Given the description of an element on the screen output the (x, y) to click on. 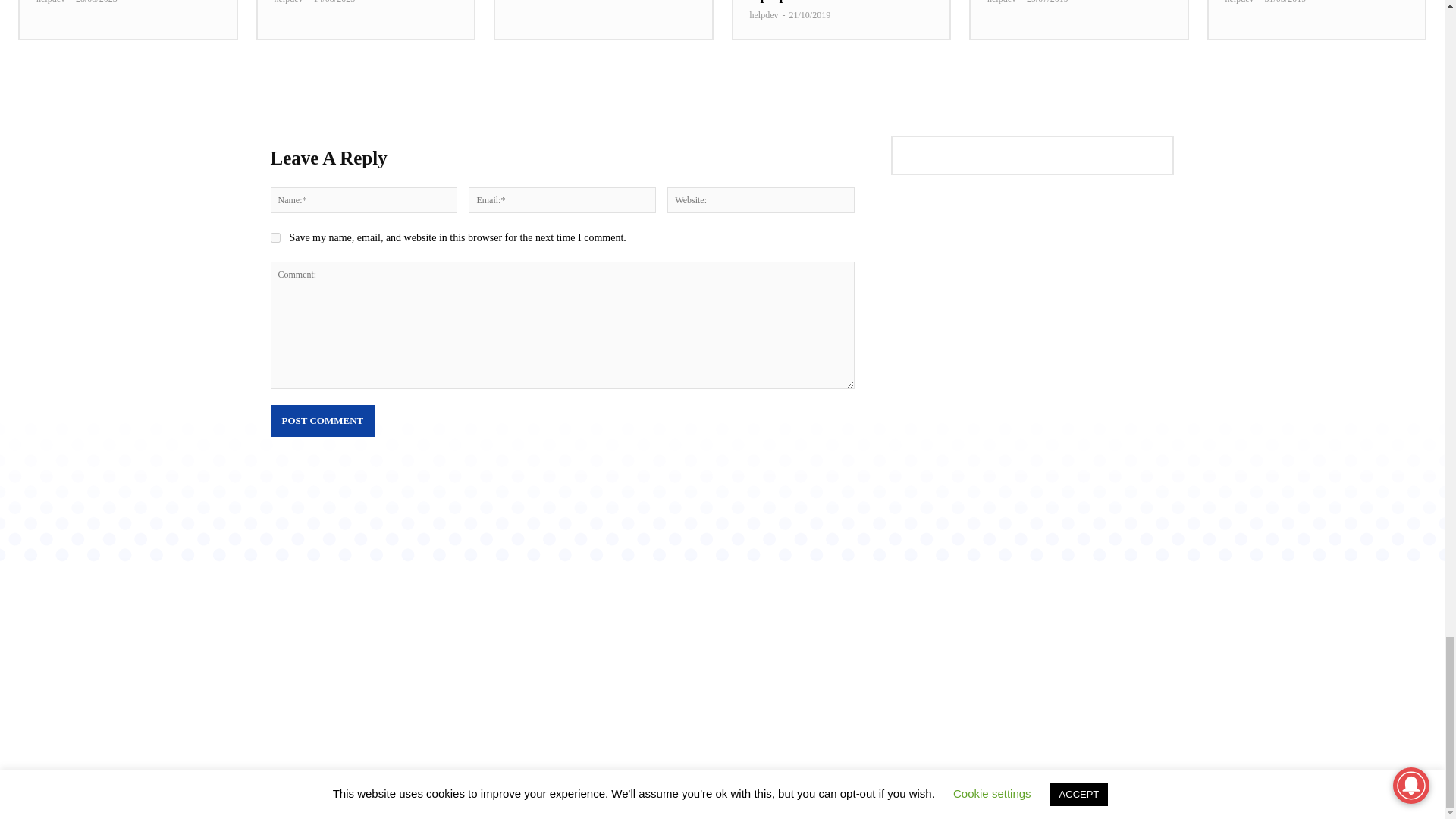
Post Comment (321, 420)
yes (274, 237)
